Given the description of an element on the screen output the (x, y) to click on. 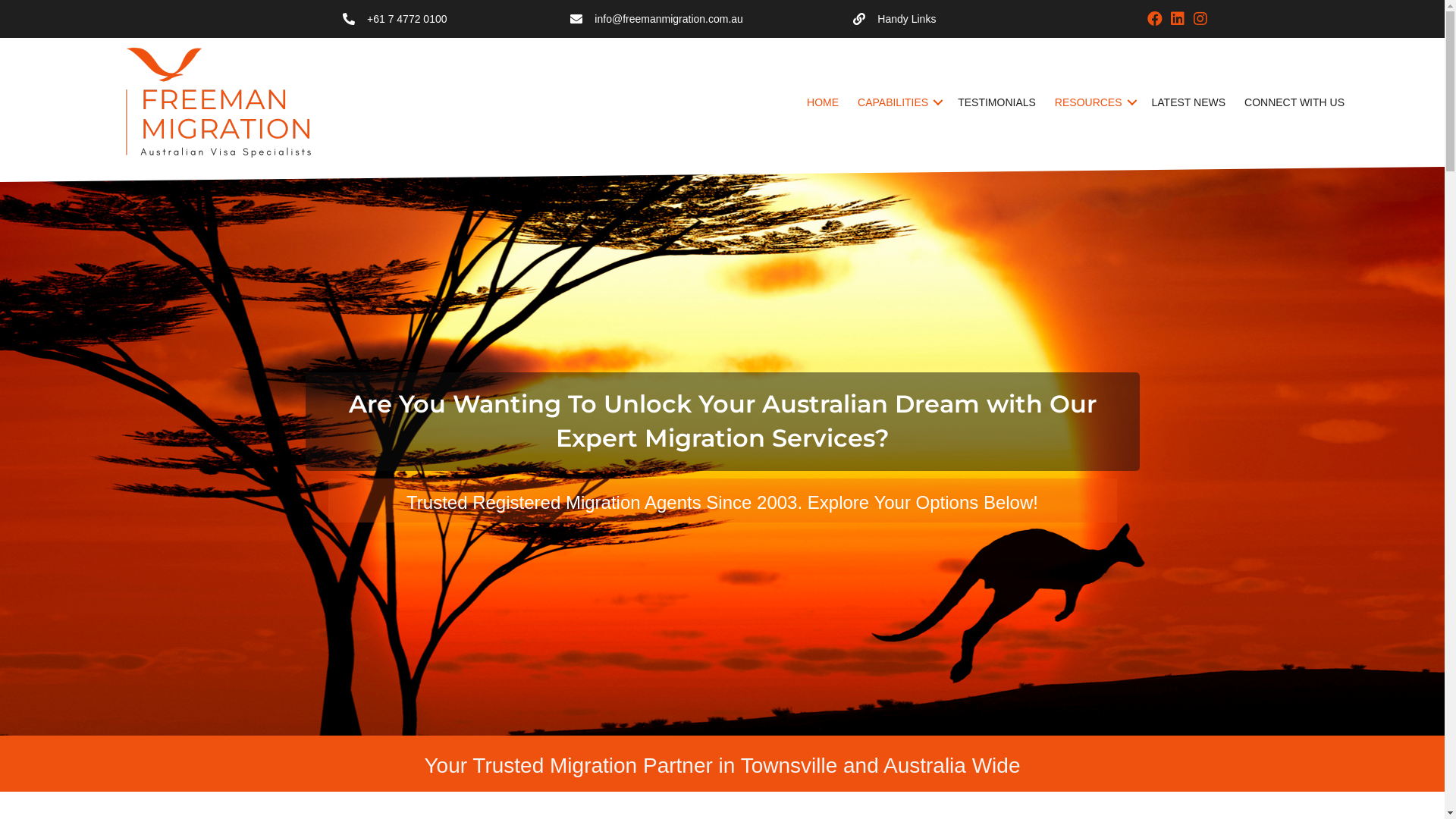
Facebook Element type: hover (1154, 18)
LATEST NEWS Element type: text (1188, 101)
Freeman Migration logo Element type: hover (223, 102)
RESOURCES Element type: text (1093, 101)
CAPABILITIES Element type: text (897, 101)
Handy Links Element type: text (992, 18)
TESTIMONIALS Element type: text (996, 101)
HOME Element type: text (822, 101)
CONNECT WITH US Element type: text (1294, 101)
info@freemanmigration.com.au Element type: text (668, 18)
LinkedIn Element type: hover (1177, 18)
+61 7 4772 0100 Element type: text (407, 18)
Instagram Element type: hover (1200, 18)
